Given the description of an element on the screen output the (x, y) to click on. 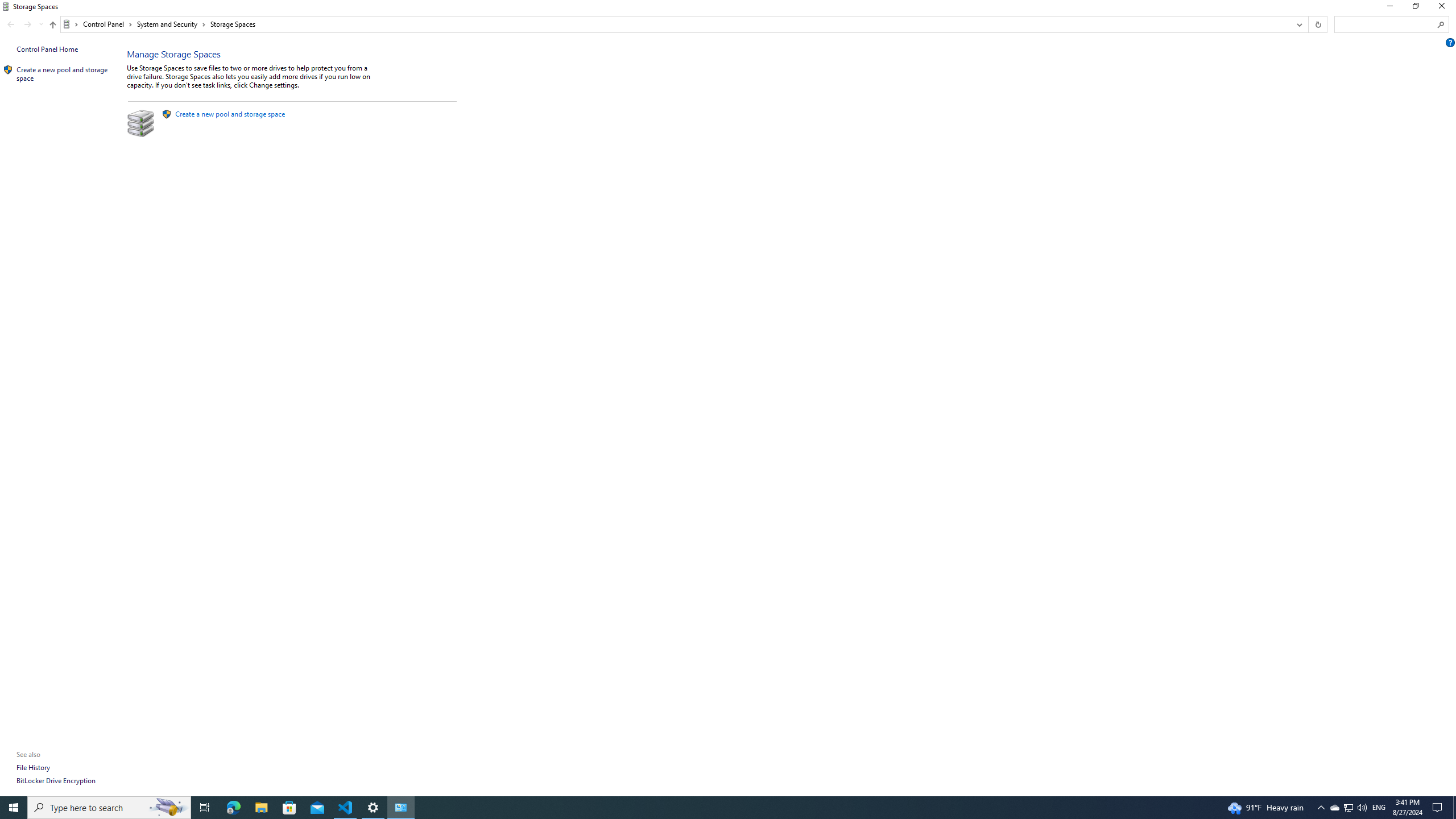
Recent locations (40, 23)
System (6, 6)
Storage Spaces (232, 23)
Icon (7, 69)
Back (Alt + Left Arrow) (10, 23)
System (6, 6)
Minimize (1388, 8)
Refresh "Storage Spaces" (F5) (1316, 23)
Create a new pool and storage space (229, 113)
